Given the description of an element on the screen output the (x, y) to click on. 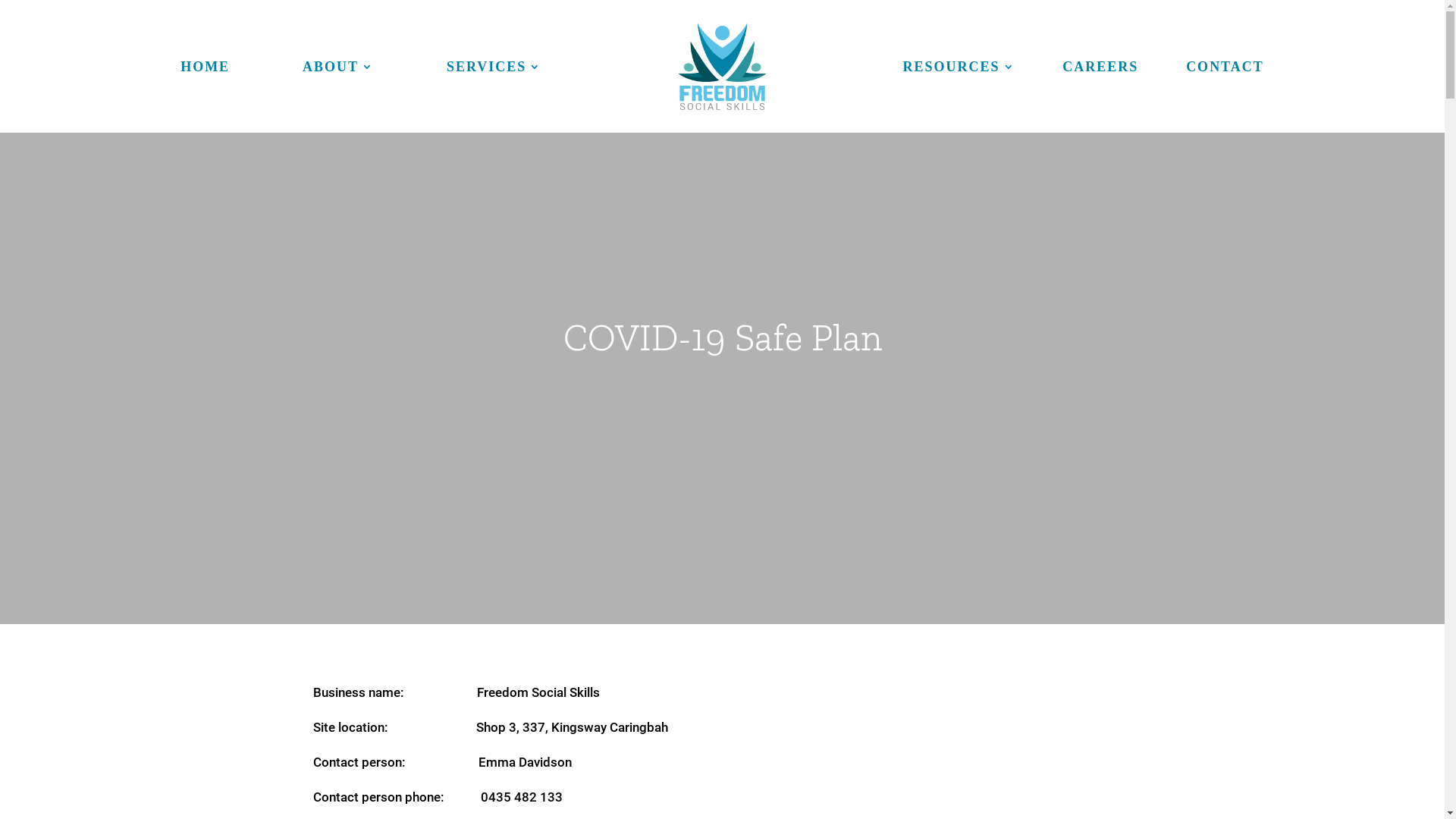
RESOURCES Element type: text (959, 69)
CAREERS Element type: text (1100, 69)
HOME Element type: text (204, 69)
SERVICES Element type: text (493, 69)
CONTACT Element type: text (1225, 69)
ABOUT Element type: text (337, 69)
Freedom Social Skills Logo Element type: hover (721, 65)
